Given the description of an element on the screen output the (x, y) to click on. 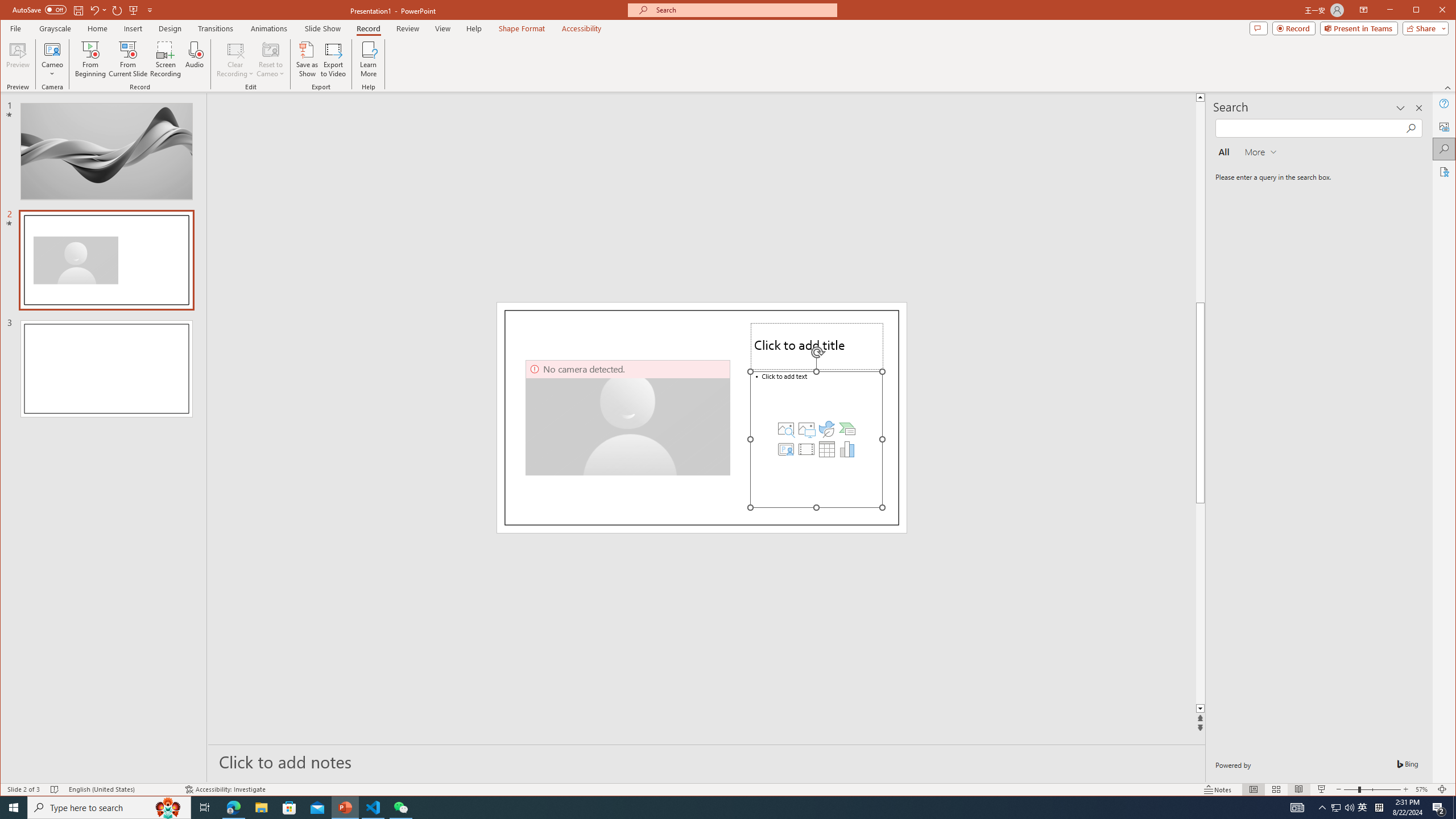
Clear Recording (234, 59)
Save as Show (307, 59)
